Given the description of an element on the screen output the (x, y) to click on. 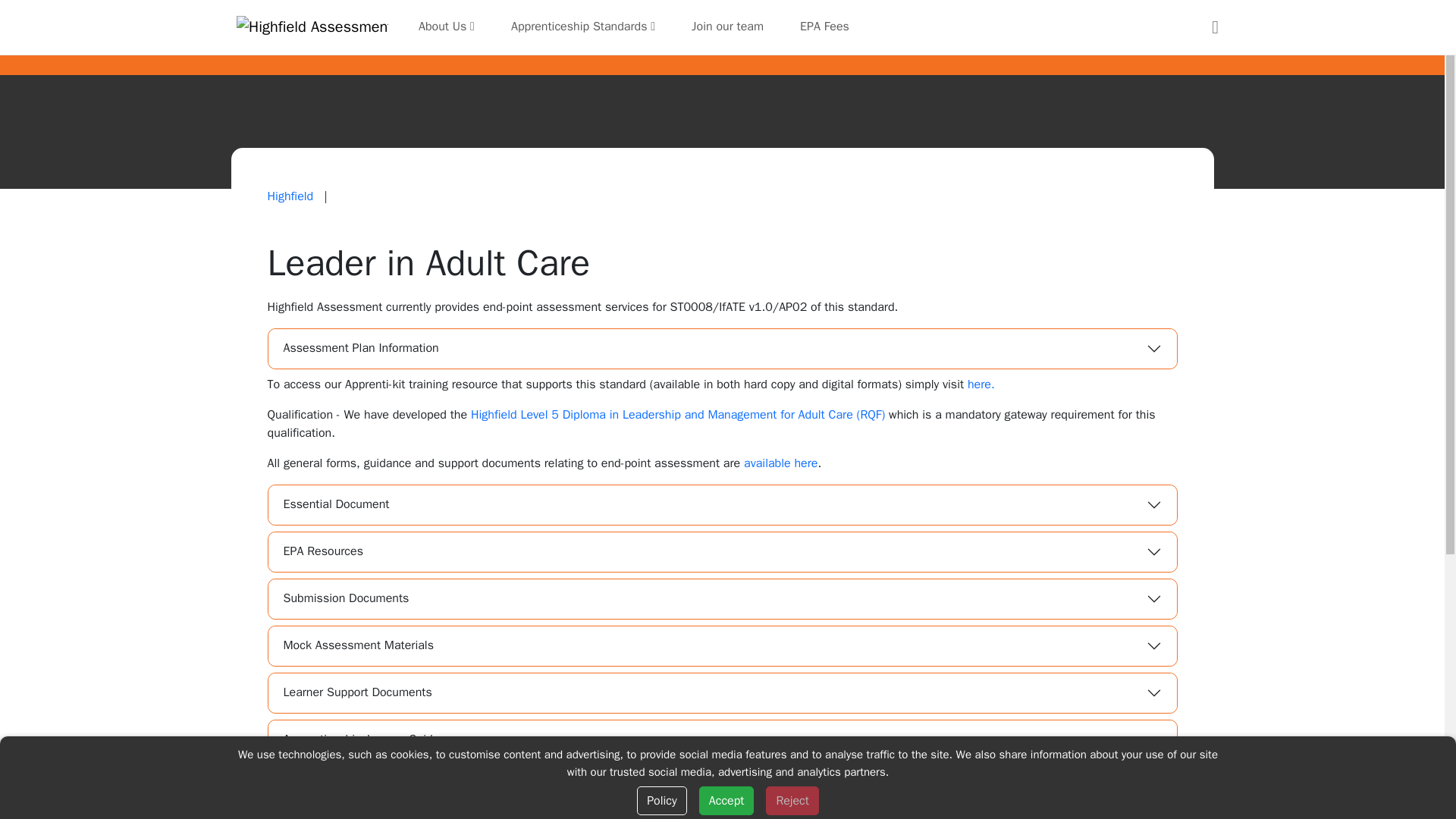
here. (981, 384)
Assessment Plan Information (721, 348)
Submission Documents (721, 599)
Essential Document (721, 504)
Apprenticeship Standards (582, 26)
Learner Support Documents (721, 692)
EPA Fees (824, 27)
available here (780, 462)
Highfield (291, 196)
Join our team (727, 27)
